Given the description of an element on the screen output the (x, y) to click on. 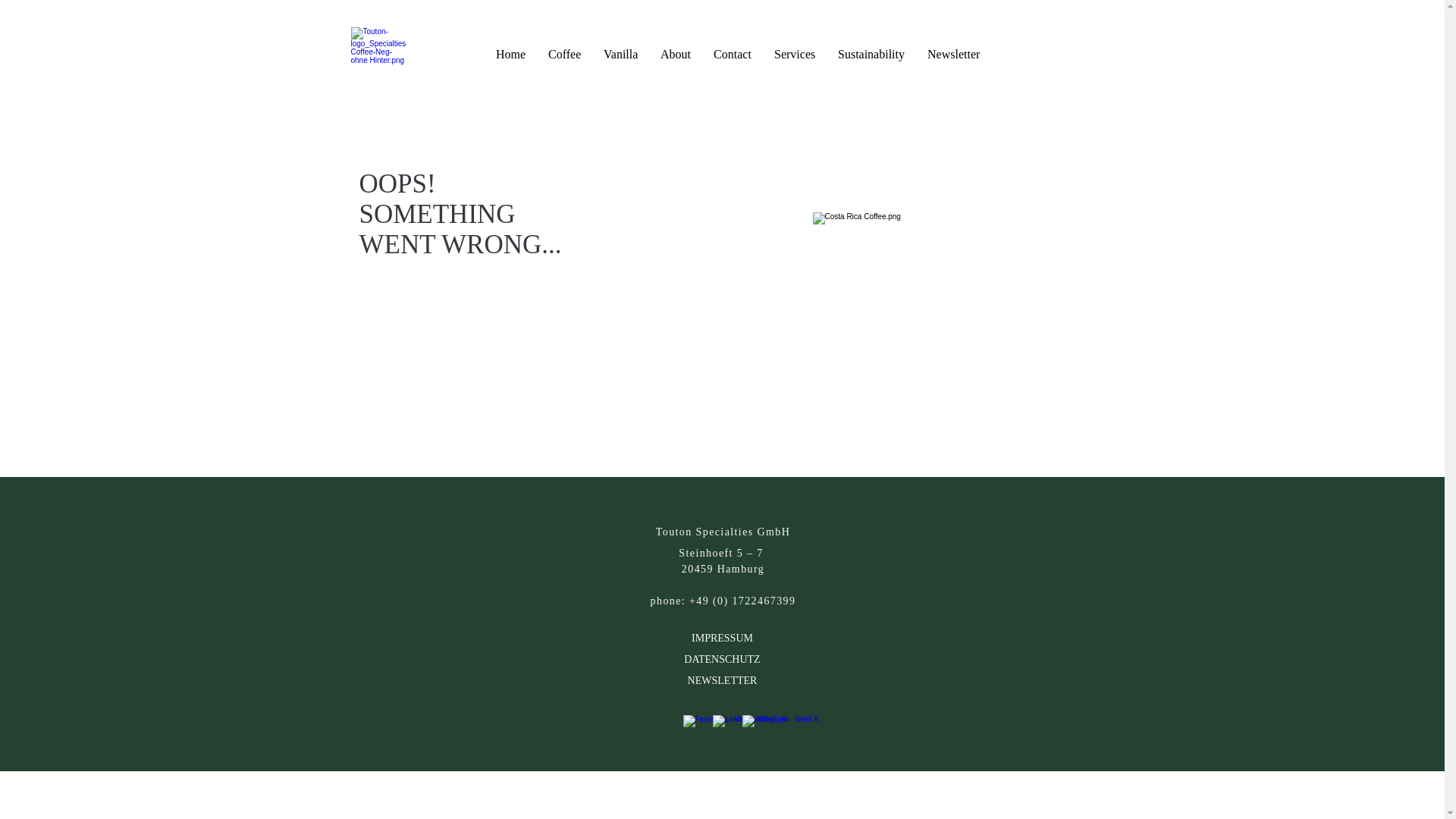
Sustainability (871, 54)
About (675, 54)
IMPRESSUM (721, 634)
Contact (731, 54)
Newsletter (953, 54)
Coffee (564, 54)
NEWSLETTER (722, 680)
Vanilla (620, 54)
Home (510, 54)
Services (794, 54)
